Given the description of an element on the screen output the (x, y) to click on. 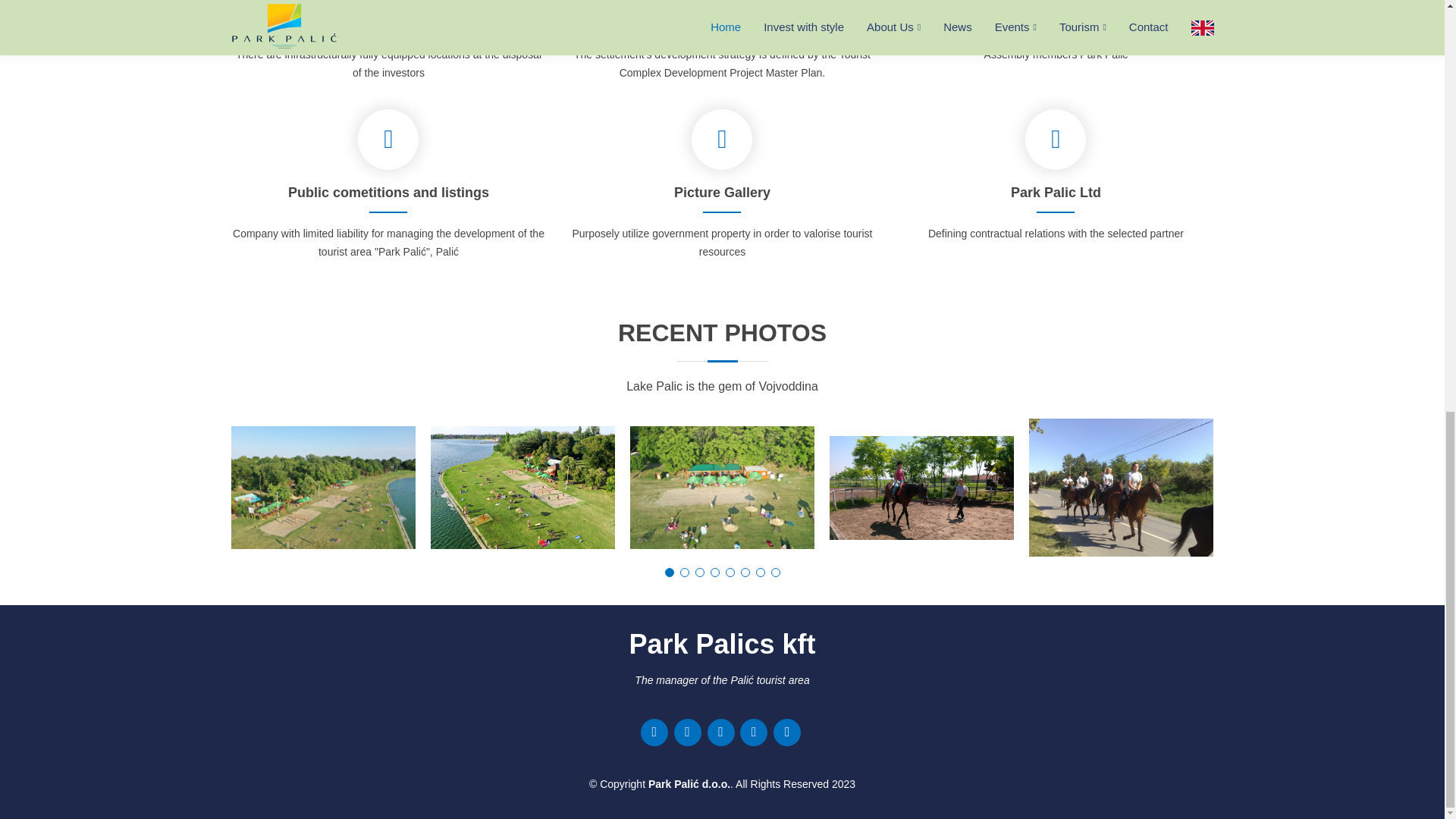
Invest with style (721, 13)
About Park Palic (388, 13)
Assembly membersj (1056, 13)
Public cometitions and listings (388, 192)
